Given the description of an element on the screen output the (x, y) to click on. 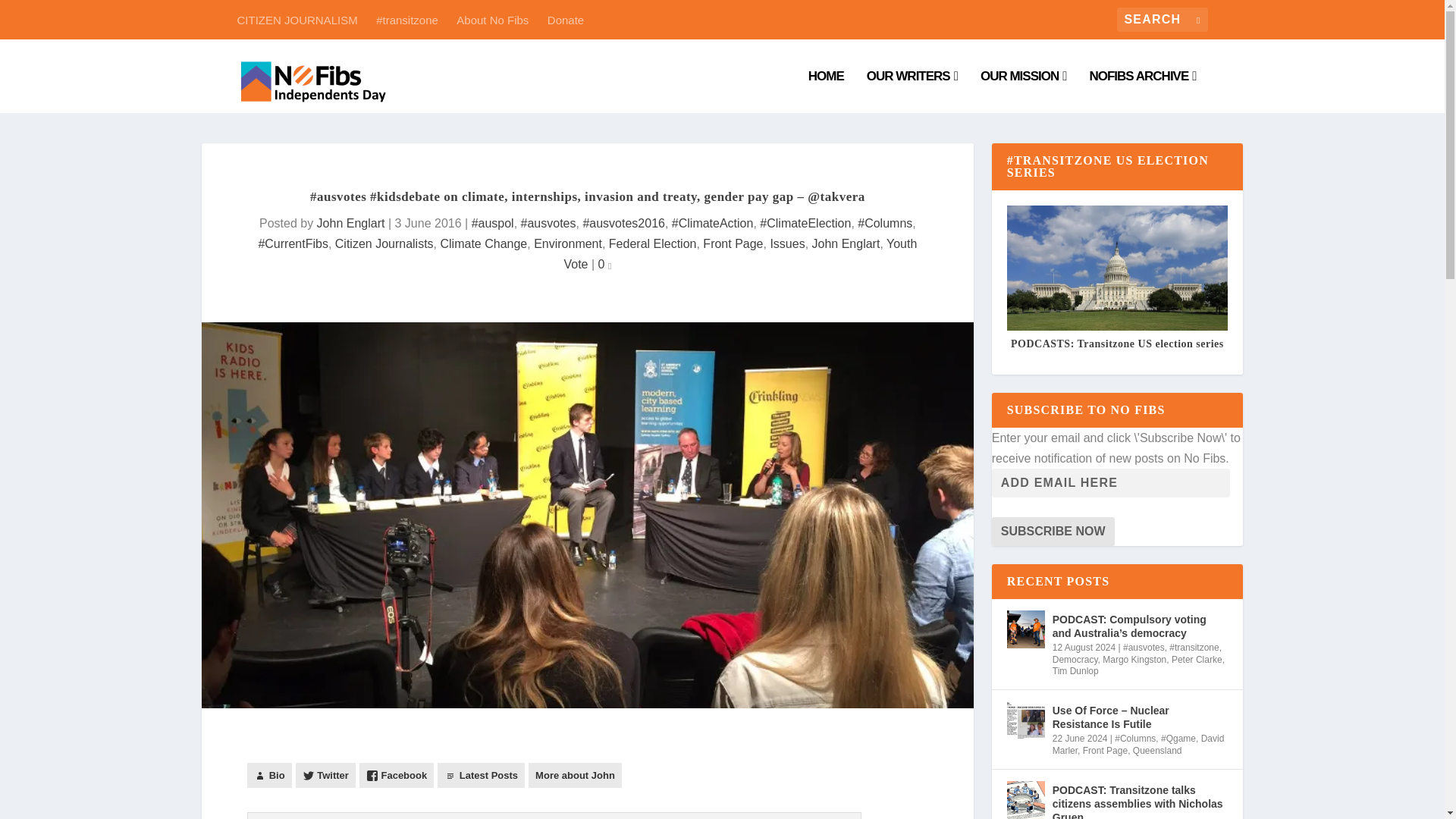
Donate (565, 19)
Citizen Journalists (383, 243)
OUR MISSION (1023, 91)
About No Fibs (492, 19)
Climate Change (483, 243)
OUR WRITERS (912, 91)
Citizen journalism  (1023, 91)
NOFIBS ARCHIVE (1142, 91)
Podcasts (406, 19)
Posts by John Englart (351, 223)
